Given the description of an element on the screen output the (x, y) to click on. 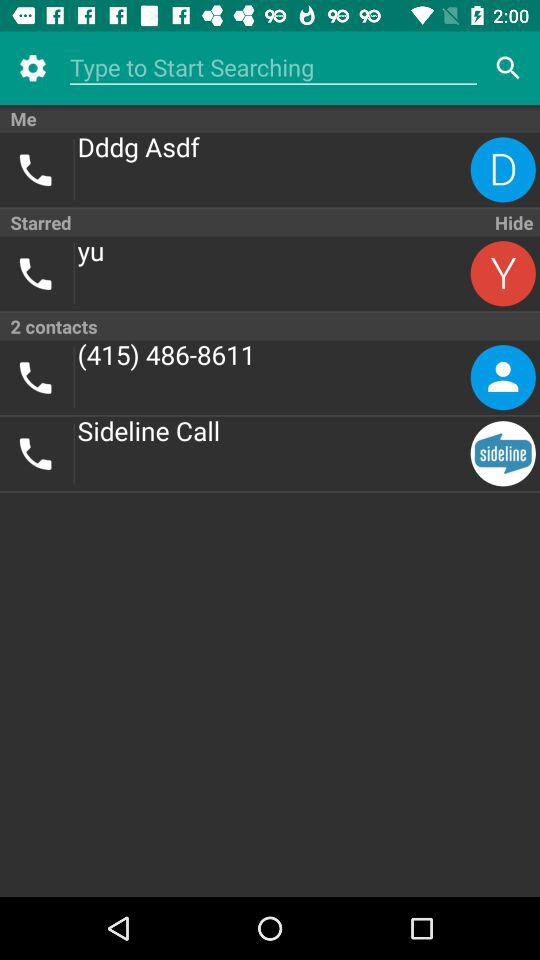
click icon above me item (32, 67)
